Given the description of an element on the screen output the (x, y) to click on. 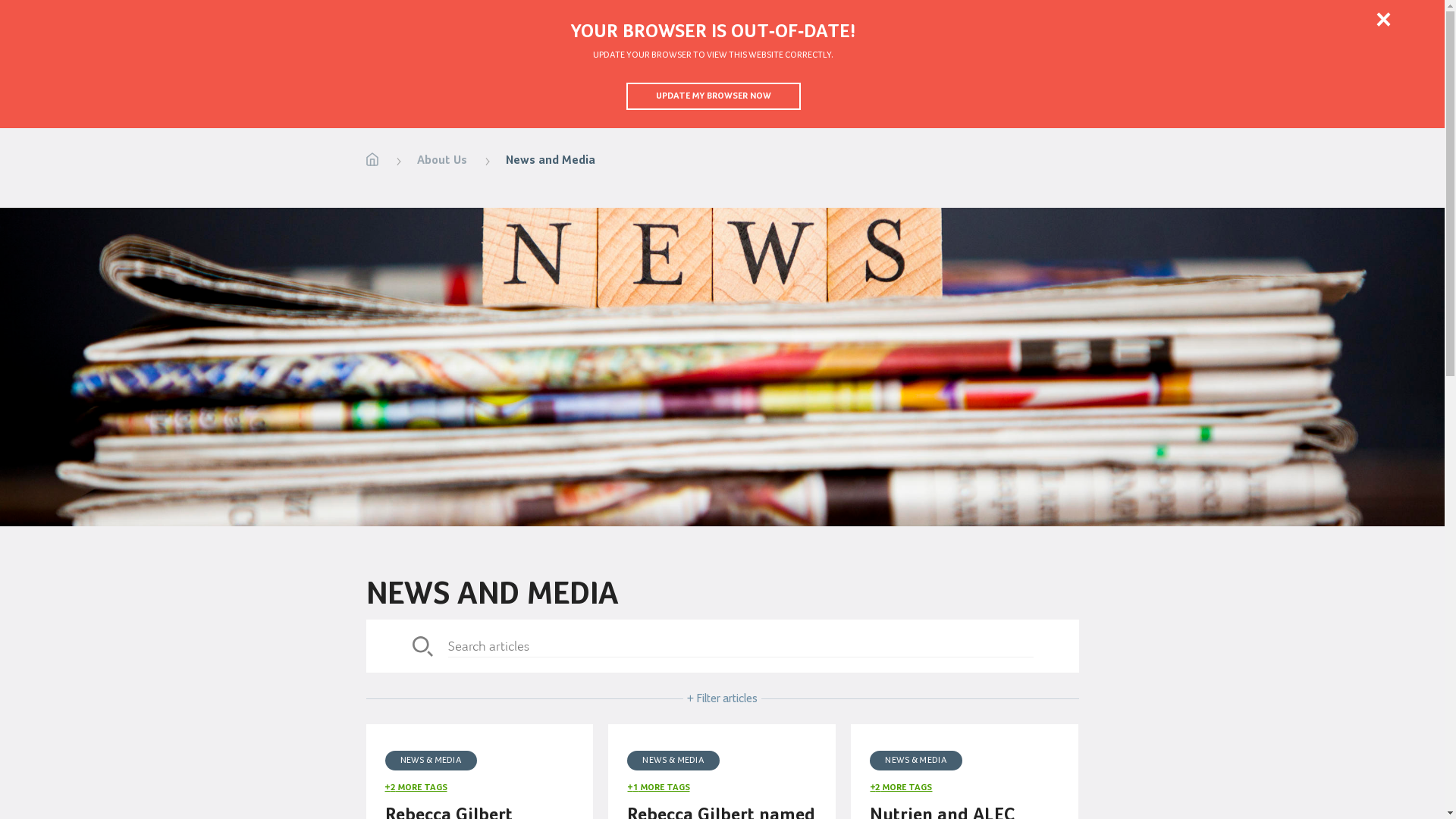
Our Range Element type: text (1082, 75)
Wool Element type: text (852, 75)
search Element type: hover (739, 645)
Insurance Element type: text (1170, 75)
Livestock Element type: text (777, 75)
Digital Ag Element type: text (995, 75)
Real Estate Element type: text (1324, 75)
Finance Element type: text (1251, 75)
About Us Element type: text (1104, 18)
Careers Element type: text (1184, 18)
Water Element type: text (918, 75)
+1 MORE TAGS Element type: text (658, 787)
News and Media Element type: text (549, 160)
GRADUATE PROGRAM Element type: text (738, 693)
Clearing Sale Element type: text (1398, 75)
About Us Element type: text (442, 160)
+2 MORE TAGS Element type: text (900, 787)
Login to Digital Hub Element type: text (81, 18)
FERTILISER NEWS Element type: text (609, 693)
WEATHER Element type: text (850, 693)
Find a branch Element type: text (1359, 18)
+2 MORE TAGS Element type: text (416, 787)
Login to MyNutrien Element type: text (226, 18)
UPDATE MY BROWSER NOW Element type: text (713, 95)
